Given the description of an element on the screen output the (x, y) to click on. 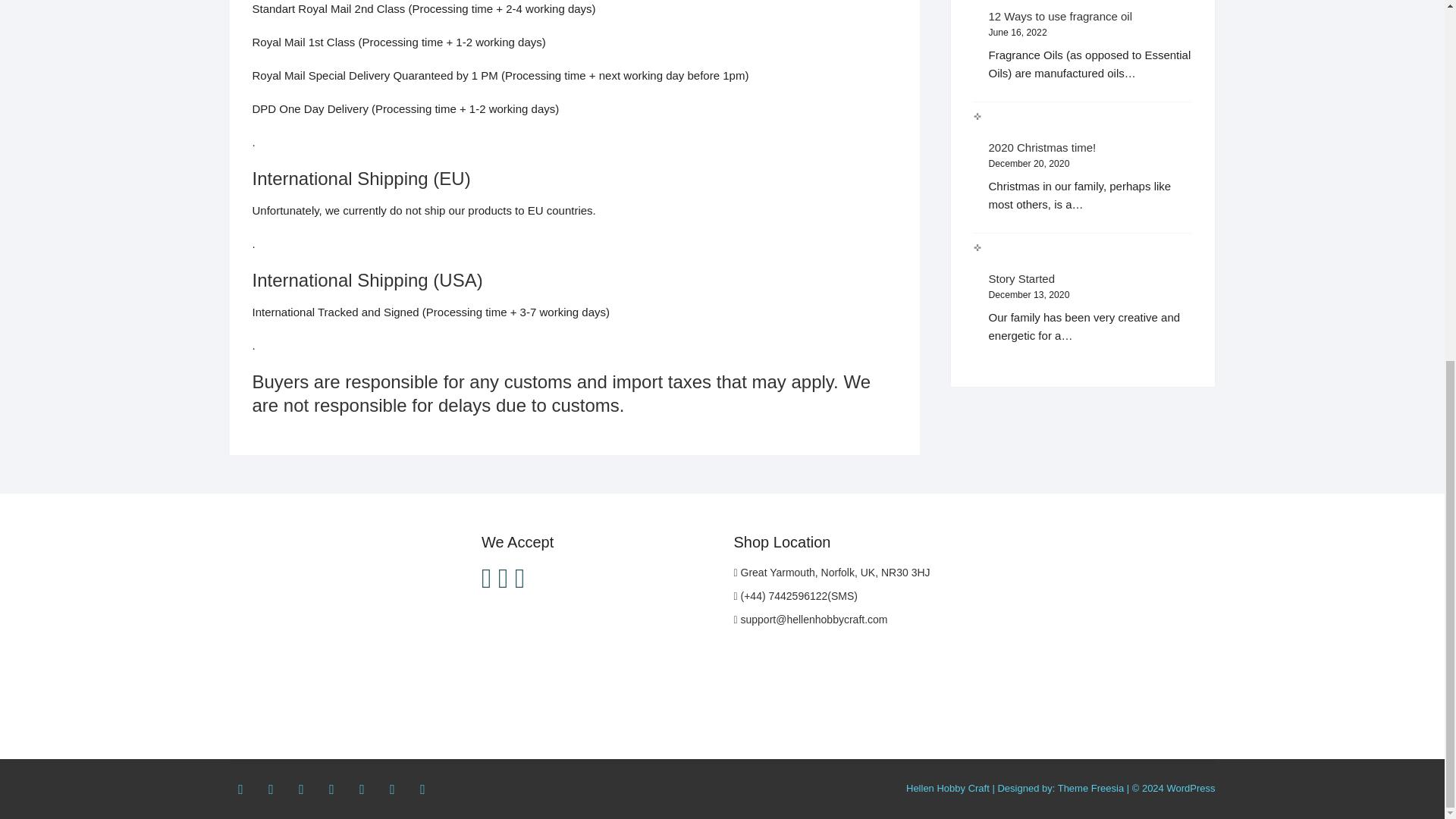
WordPress (1190, 787)
Mastercard (486, 577)
Visa (502, 577)
Mail Us (810, 619)
Paypal  (519, 577)
Our Address (831, 572)
Hellen Hobby Craft (947, 787)
Call Us (796, 595)
Theme Freesia (1091, 787)
